Given the description of an element on the screen output the (x, y) to click on. 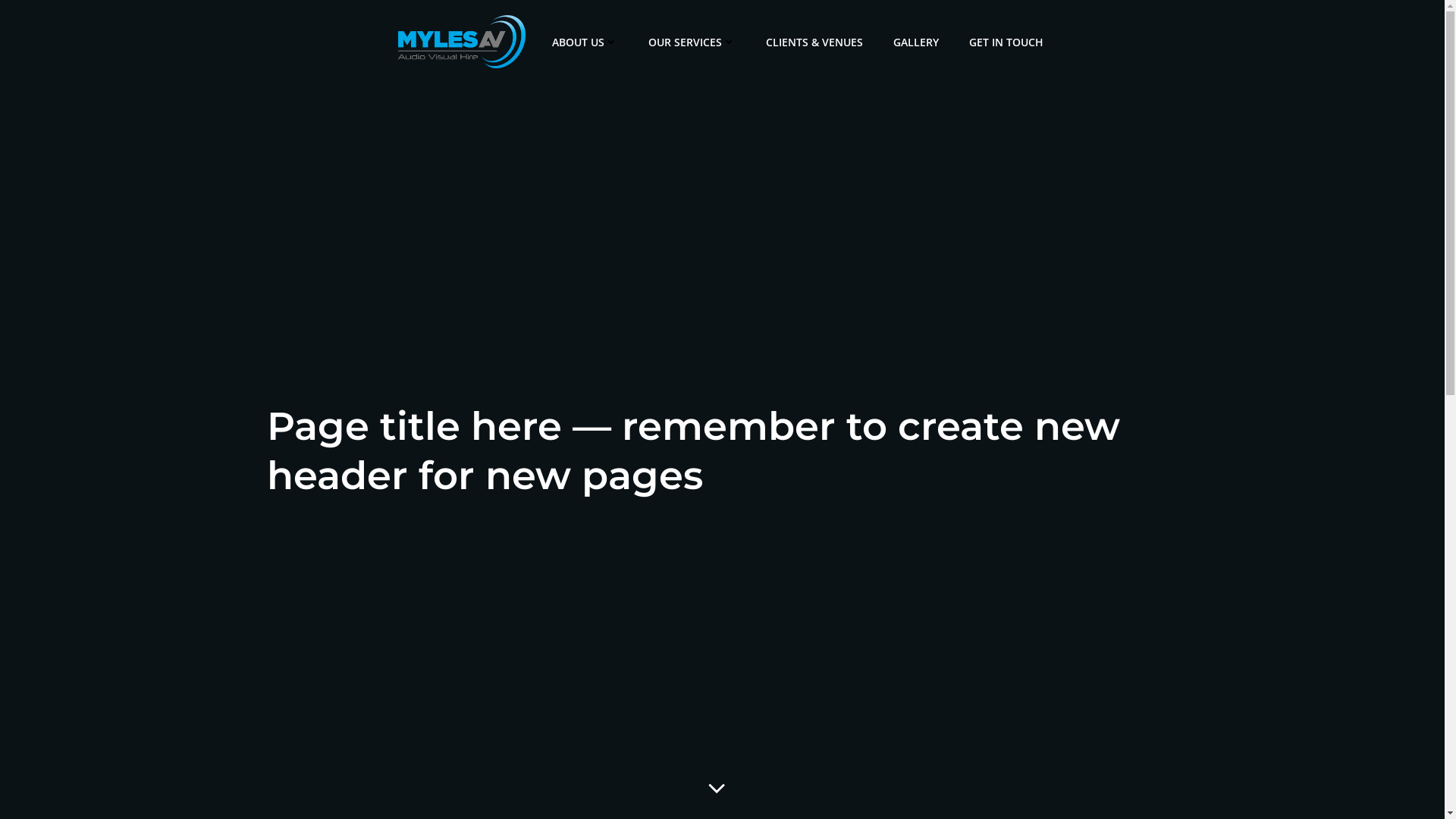
OUR SERVICES Element type: text (690, 41)
GET IN TOUCH Element type: text (1006, 41)
GALLERY Element type: text (915, 41)
CLIENTS & VENUES Element type: text (813, 41)
ABOUT US Element type: text (585, 41)
